Given the description of an element on the screen output the (x, y) to click on. 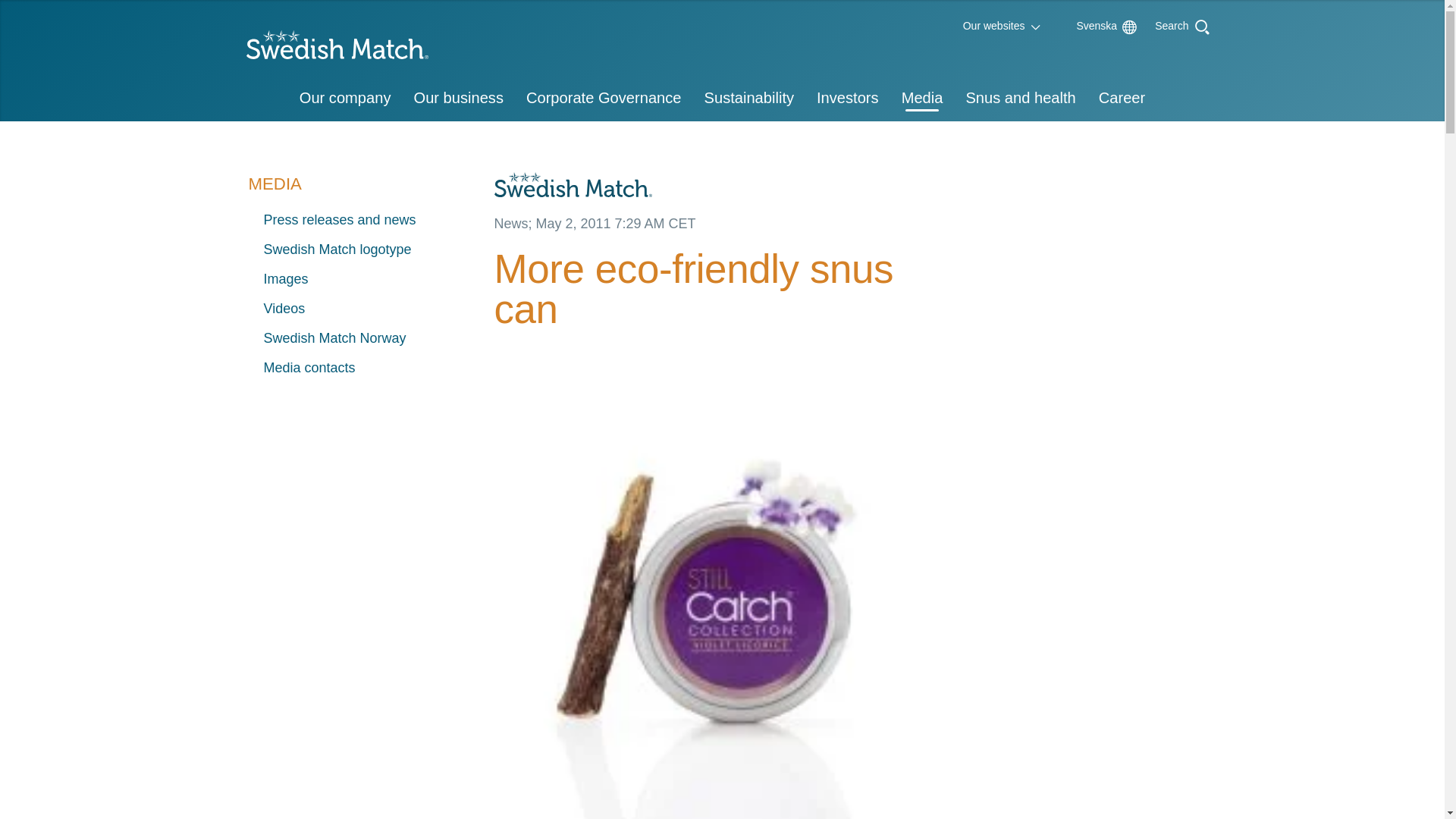
Our websites (994, 25)
Our company (345, 98)
Svenska (1089, 25)
Swedish Match (331, 48)
Our business (457, 98)
Search (1171, 23)
